Given the description of an element on the screen output the (x, y) to click on. 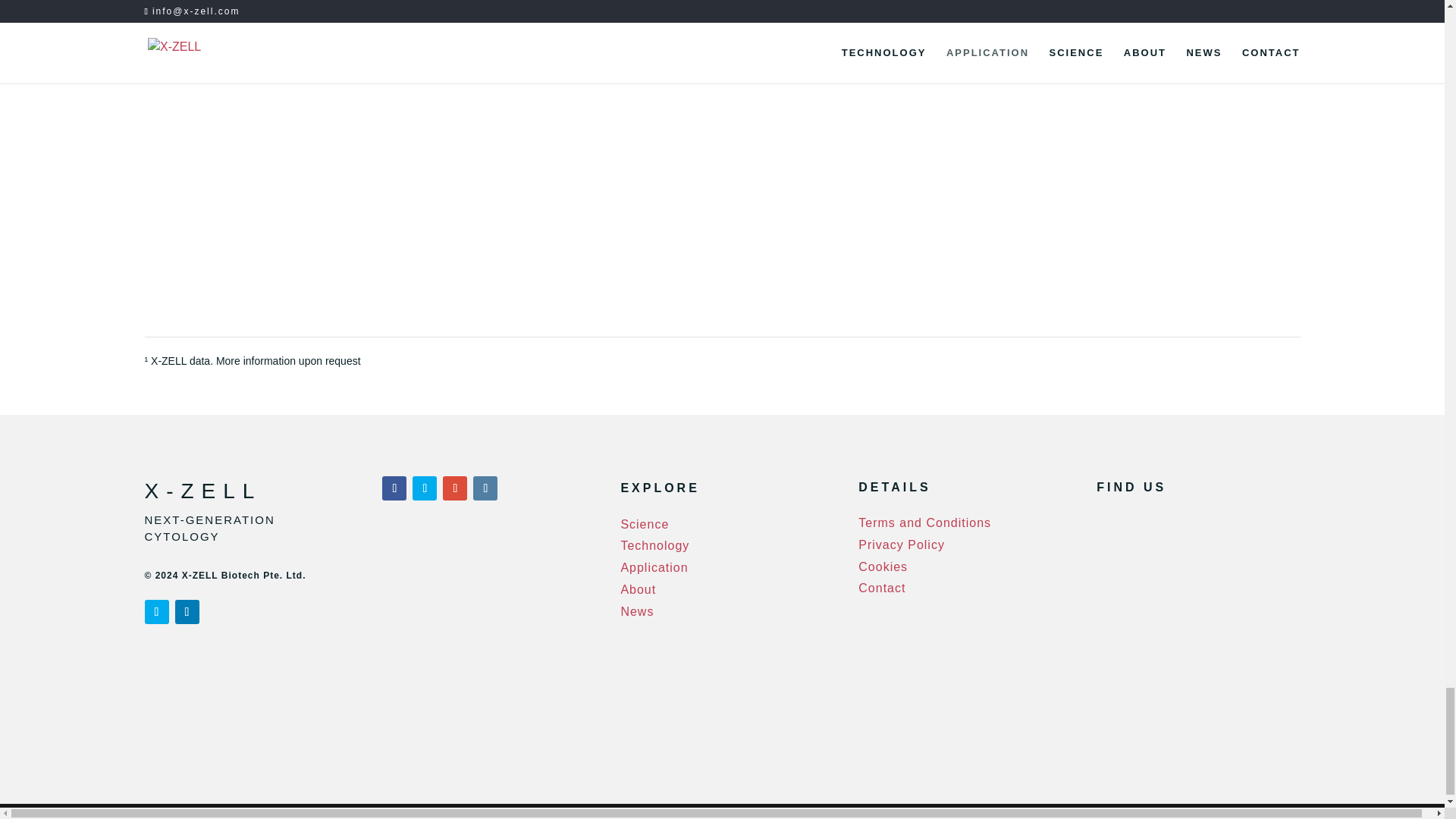
Terms and Conditions (925, 522)
Follow on Instagram (485, 487)
Privacy Policy (901, 544)
Contact (882, 587)
Follow on LinkedIn (186, 611)
Follow on Twitter (424, 487)
Application (653, 567)
Follow on Twitter (156, 611)
About (638, 589)
Technology (654, 545)
